Given the description of an element on the screen output the (x, y) to click on. 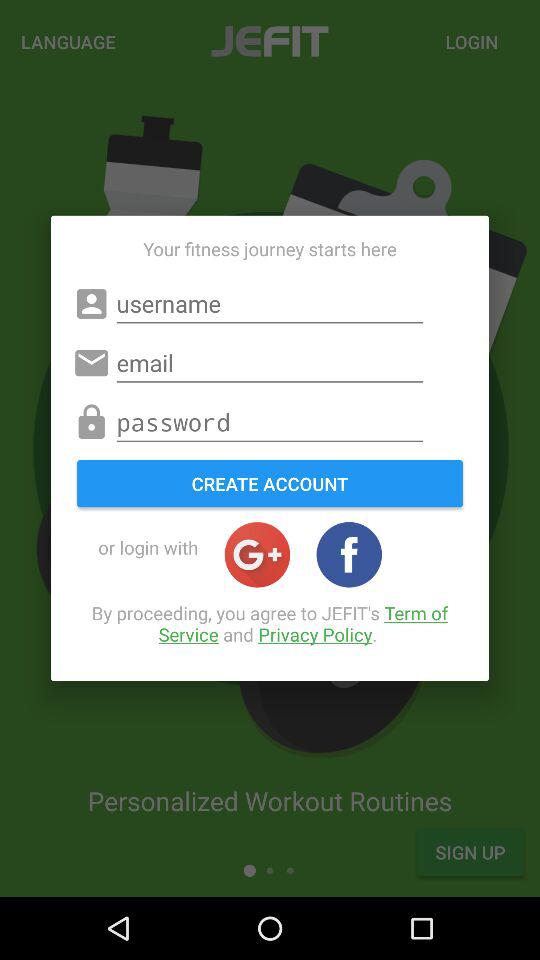
username (269, 303)
